Given the description of an element on the screen output the (x, y) to click on. 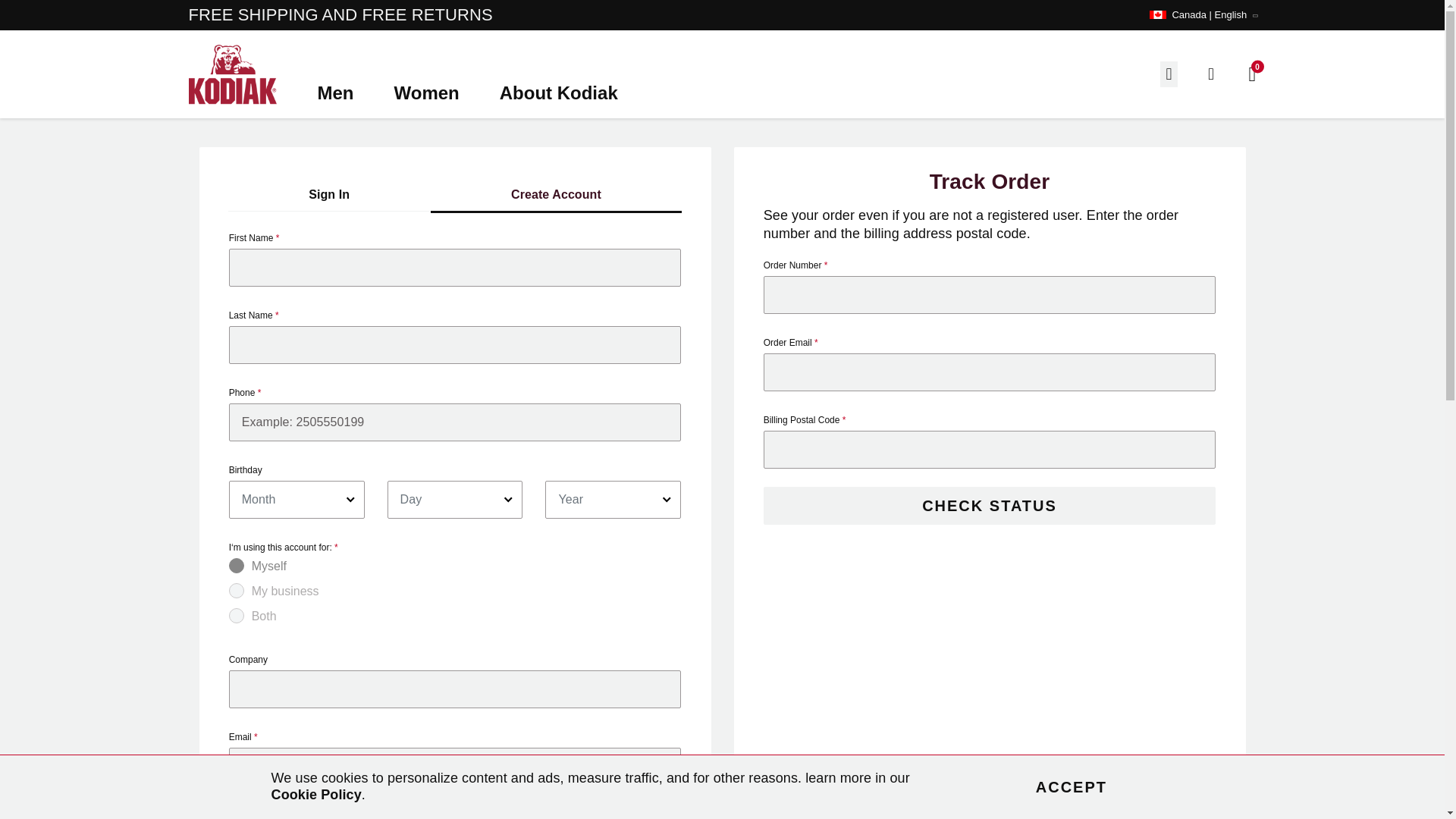
both (256, 613)
Men (336, 83)
business (256, 587)
personal (256, 562)
